Given the description of an element on the screen output the (x, y) to click on. 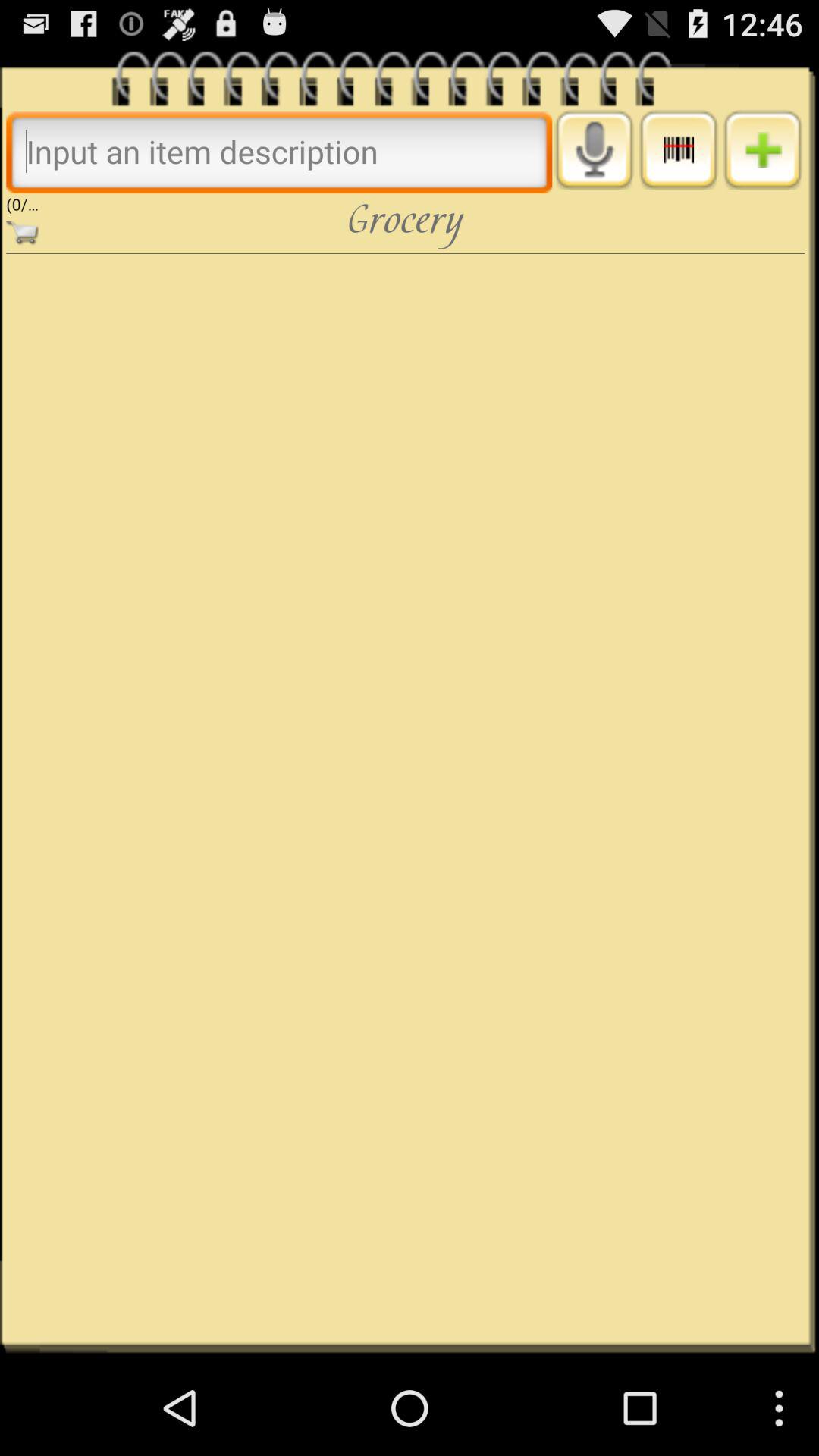
add an input description row (762, 149)
